Given the description of an element on the screen output the (x, y) to click on. 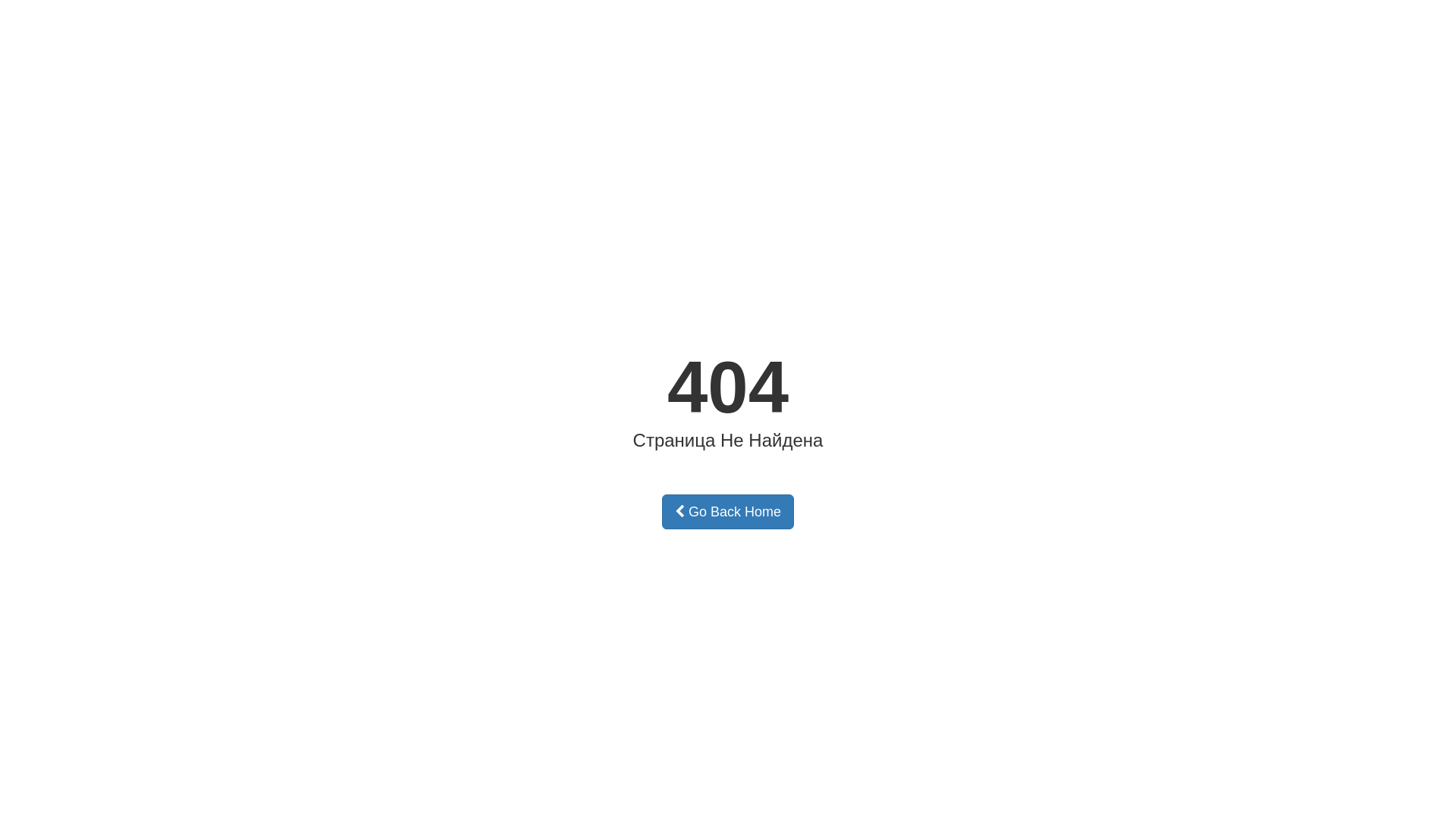
Go Back Home Element type: text (727, 511)
